Given the description of an element on the screen output the (x, y) to click on. 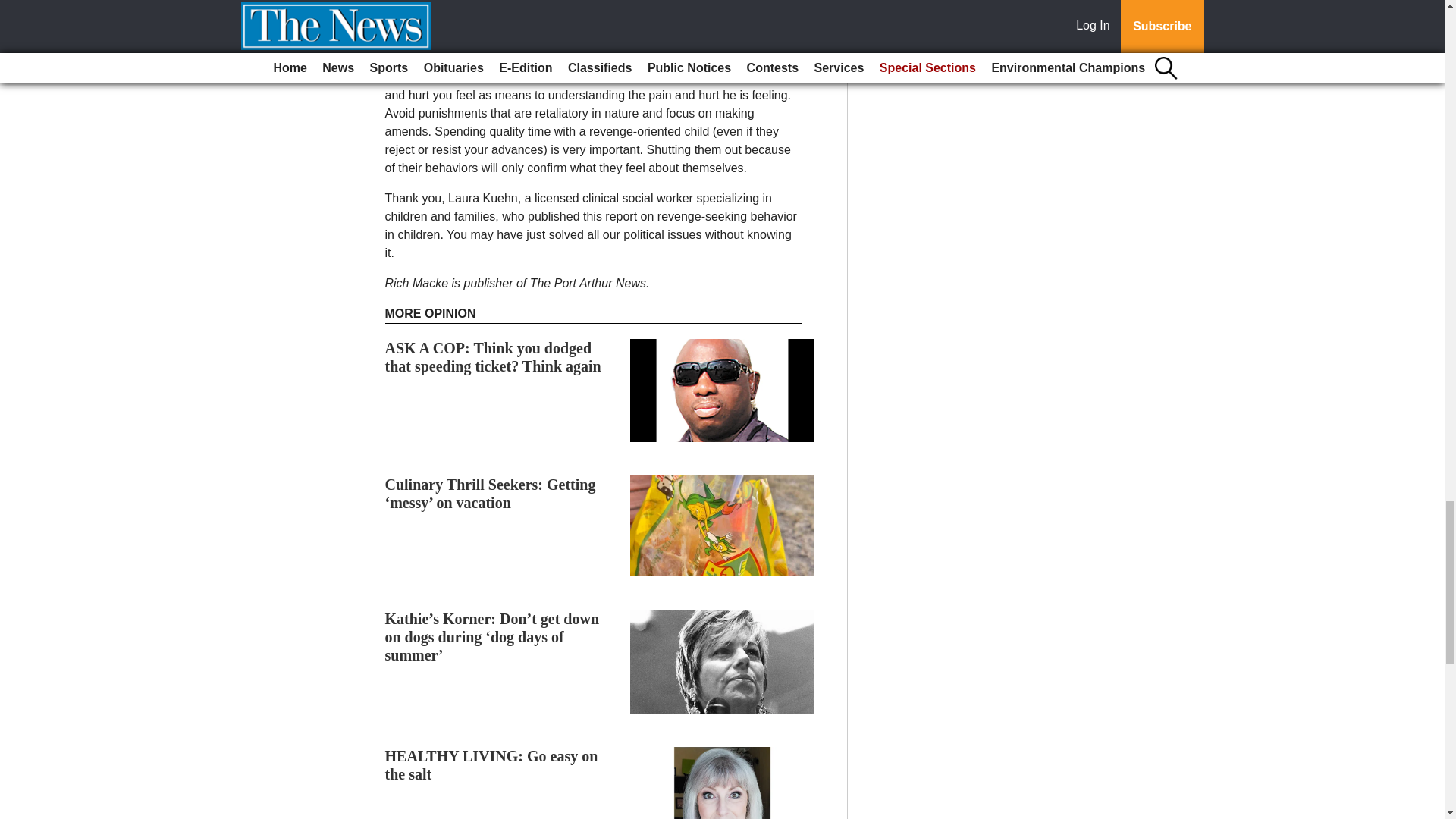
HEALTHY LIVING: Go easy on the salt (491, 764)
HEALTHY LIVING: Go easy on the salt (491, 764)
